Given the description of an element on the screen output the (x, y) to click on. 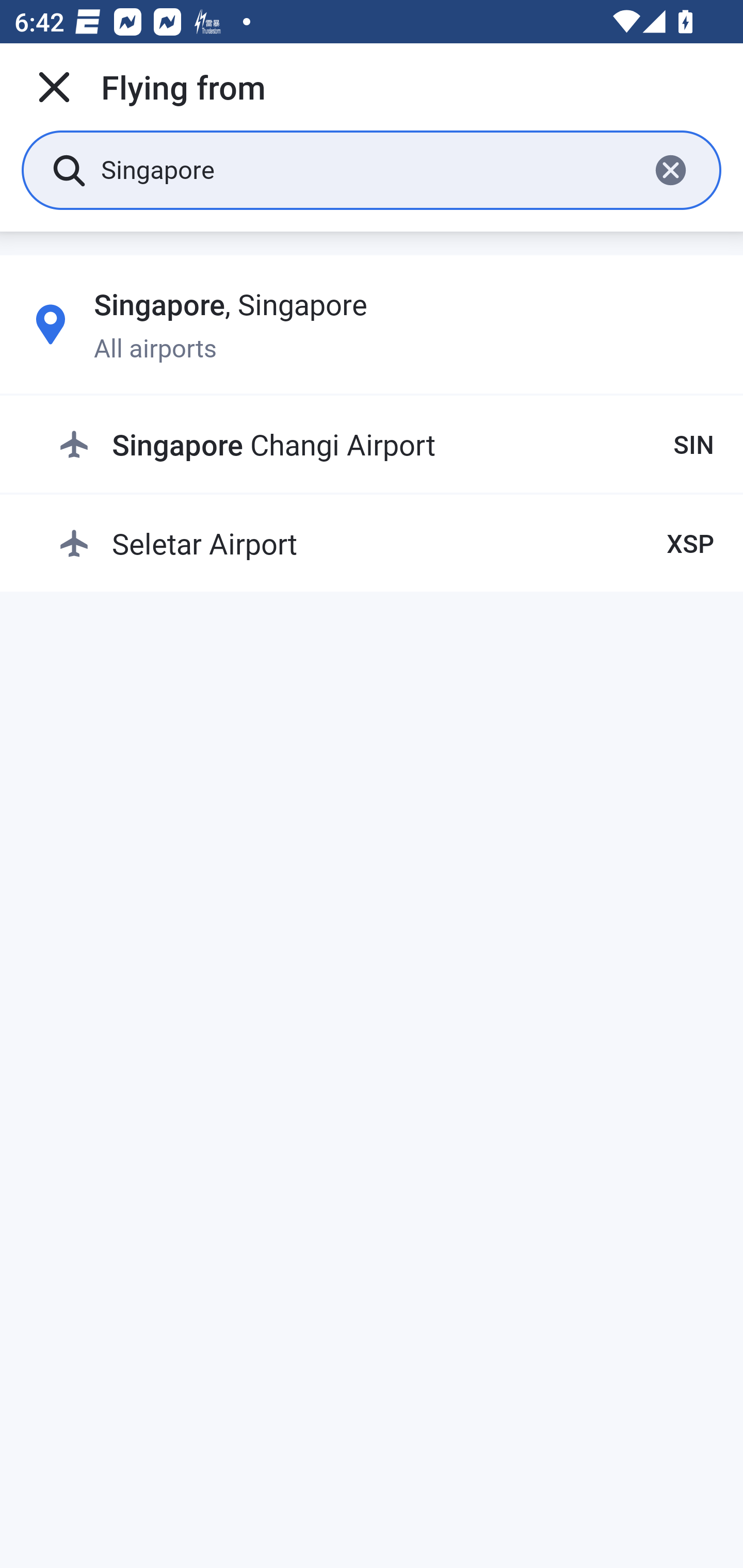
Singapore (367, 169)
Singapore, Singapore All airports (371, 324)
Singapore Changi Airport SIN (385, 444)
Seletar Airport XSP (385, 543)
